Given the description of an element on the screen output the (x, y) to click on. 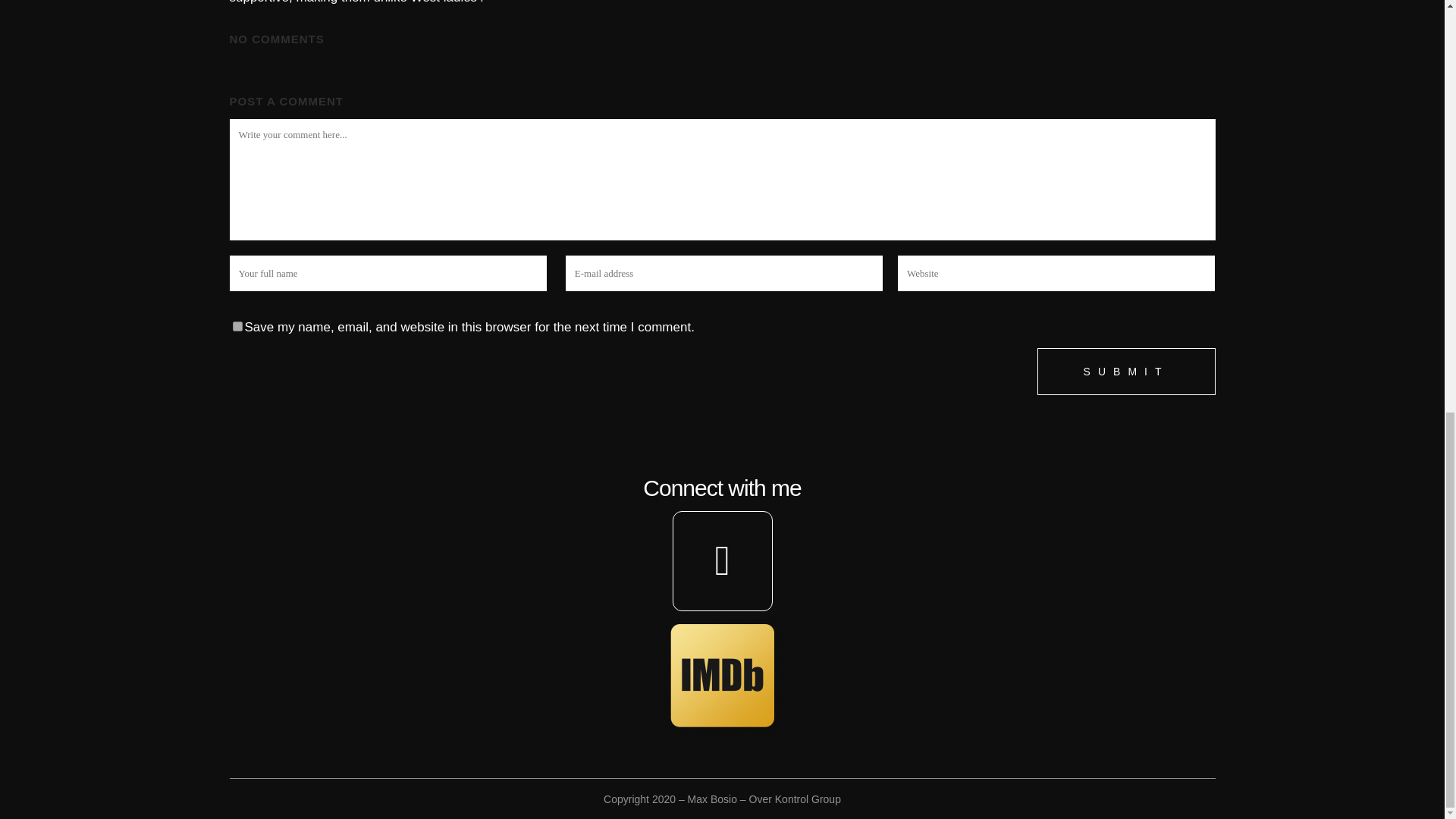
yes (236, 326)
Submit (1125, 371)
Over Kontrol Group (795, 799)
Submit (1125, 371)
